Given the description of an element on the screen output the (x, y) to click on. 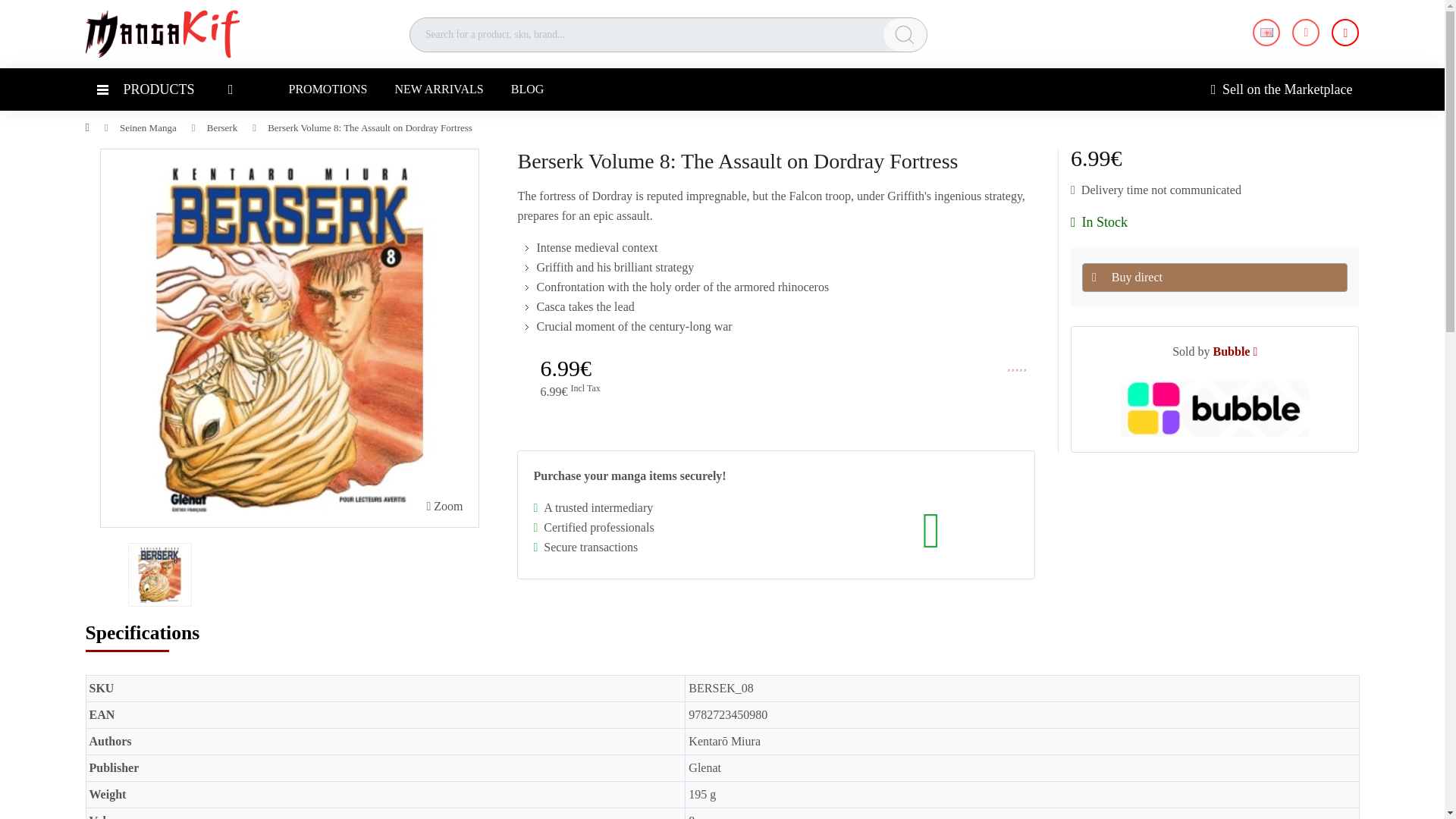
English (1266, 31)
Go to my cart (1345, 31)
Bubble (1213, 408)
MangKif (161, 32)
Berserk Volume 8: The Assault on Dordray Fortress (443, 506)
MangKif (161, 33)
Berserk Volume 8: The Assault on Dordray Fortress (160, 574)
PRODUCTS (164, 88)
